Given the description of an element on the screen output the (x, y) to click on. 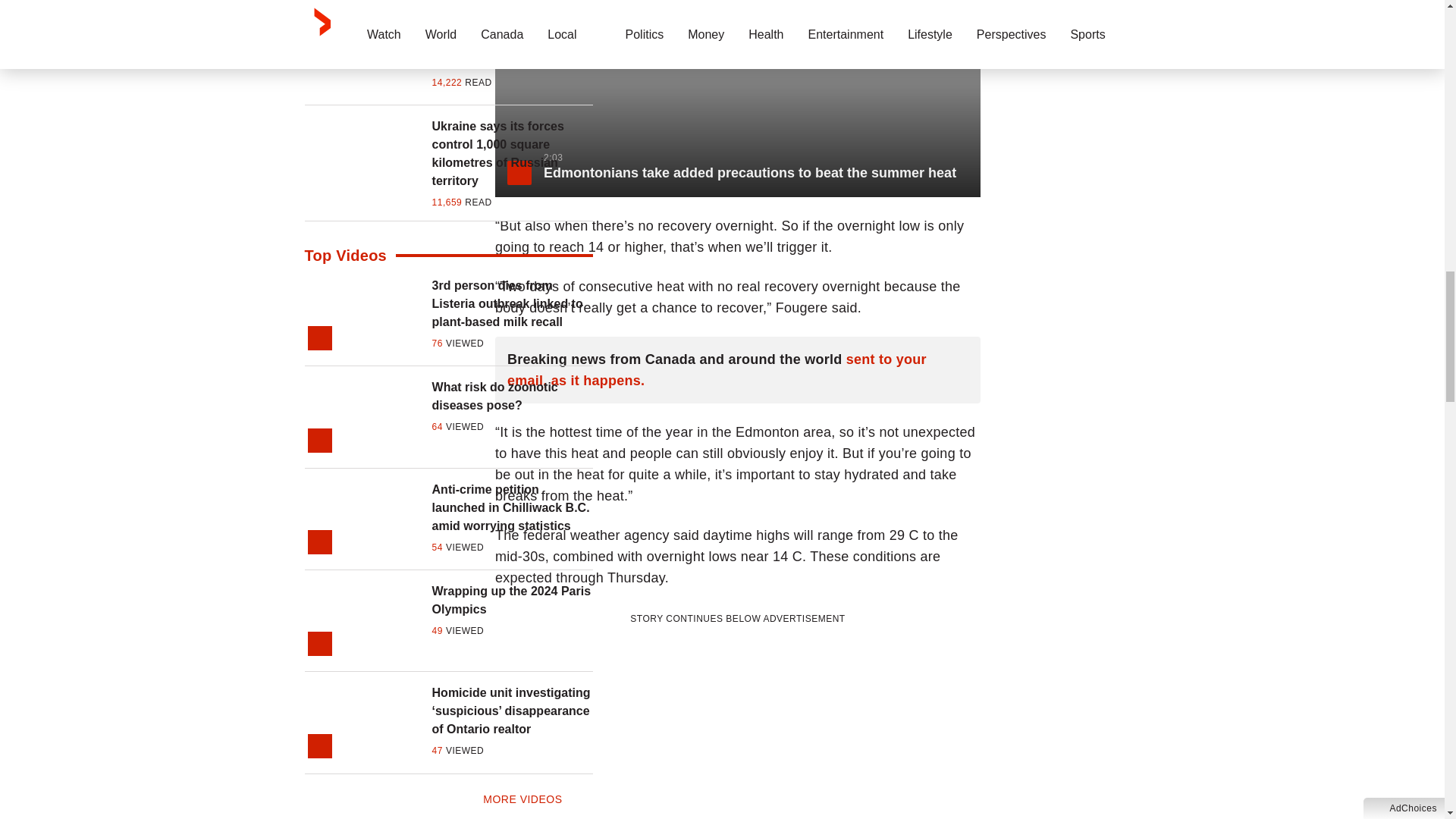
What risk do zoonotic diseases pose? (512, 396)
Wrapping up the 2024 Paris Olympics (512, 600)
